Given the description of an element on the screen output the (x, y) to click on. 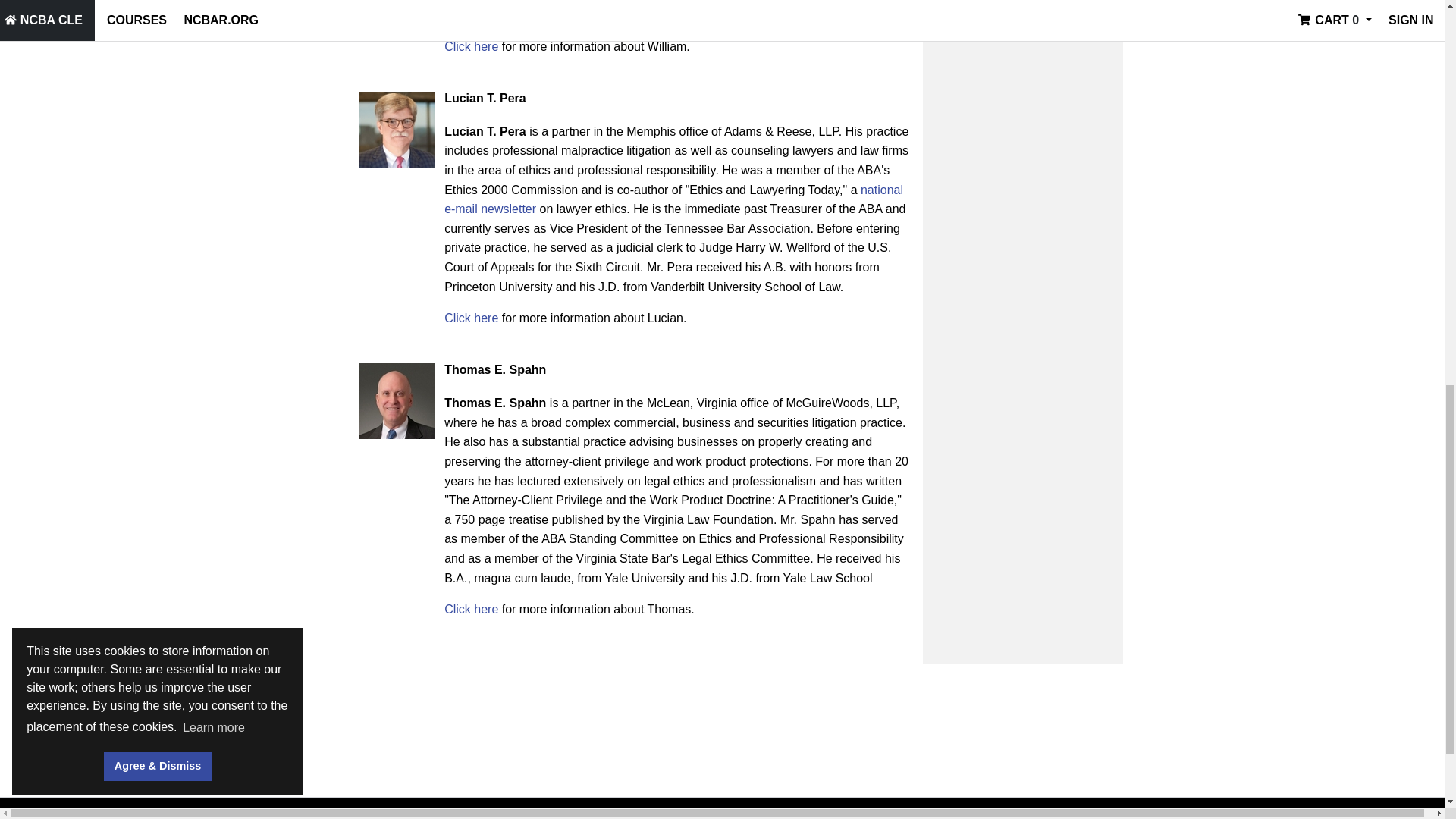
Click here (470, 318)
national e-mail newsletter (673, 199)
Click here (470, 46)
Click here (470, 608)
